Given the description of an element on the screen output the (x, y) to click on. 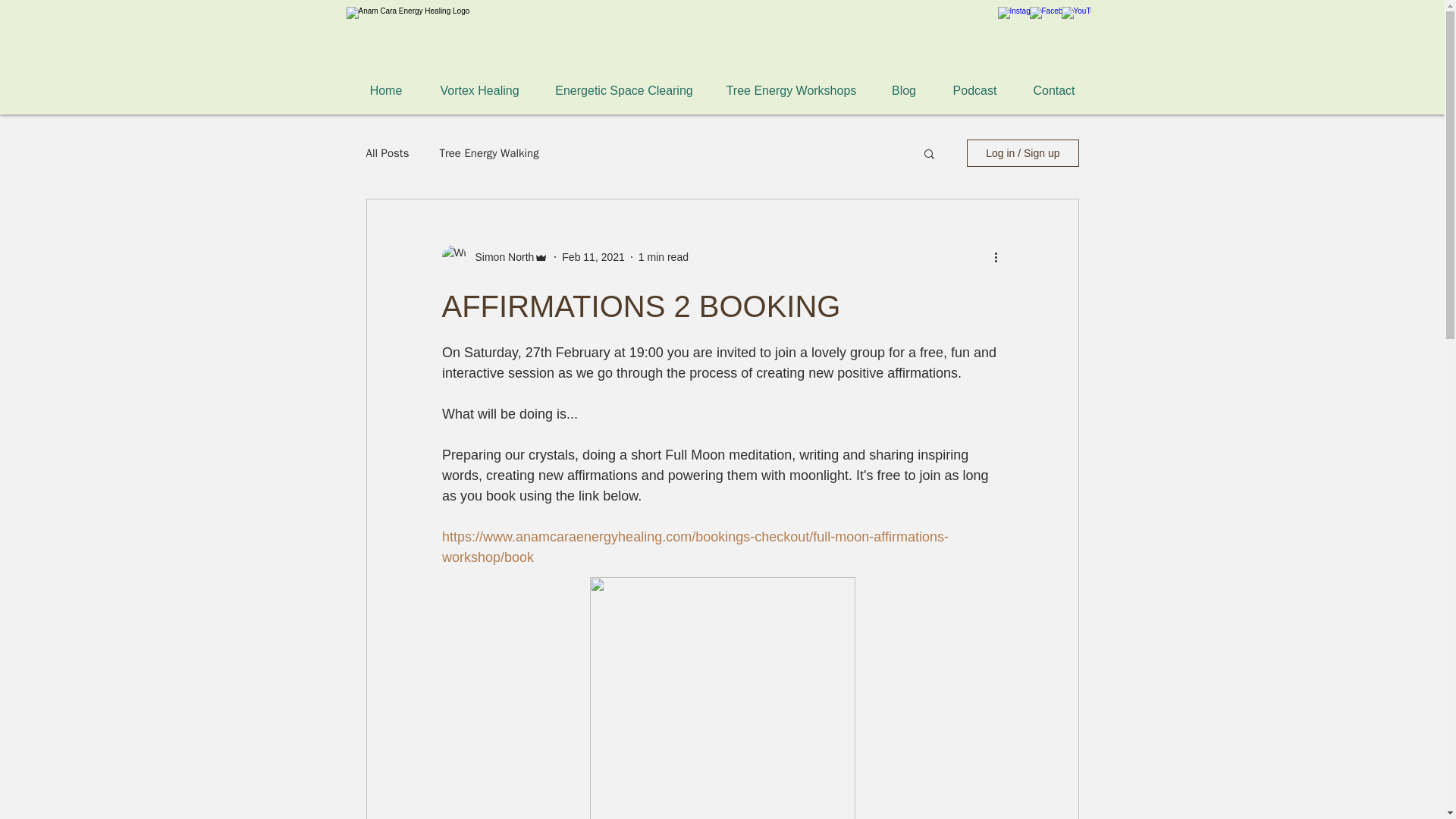
All Posts (387, 152)
1 min read (663, 256)
Feb 11, 2021 (593, 256)
Energetic Space Clearing (624, 90)
Blog (903, 90)
Home (385, 90)
Tree Energy Workshops (791, 90)
Simon North (499, 256)
Tree Energy Walking (488, 152)
Podcast (975, 90)
